Given the description of an element on the screen output the (x, y) to click on. 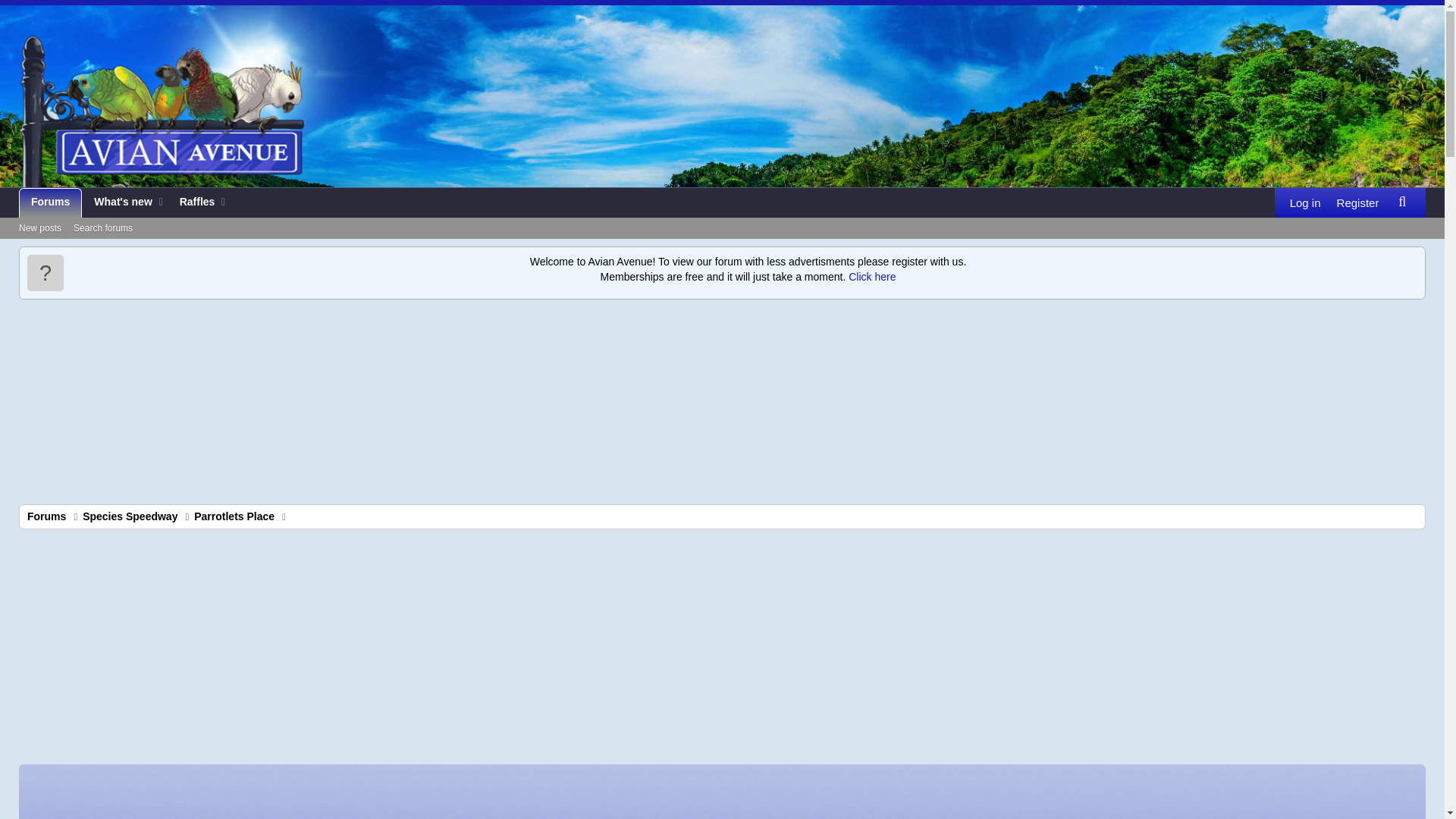
Parrotlets Place (234, 516)
What's new (118, 203)
Search forums (124, 202)
Forums (102, 228)
Forums (46, 516)
Raffles (50, 203)
Search (192, 203)
Register (1402, 202)
Species Speedway (124, 219)
New posts (1357, 203)
Log in (129, 516)
